Given the description of an element on the screen output the (x, y) to click on. 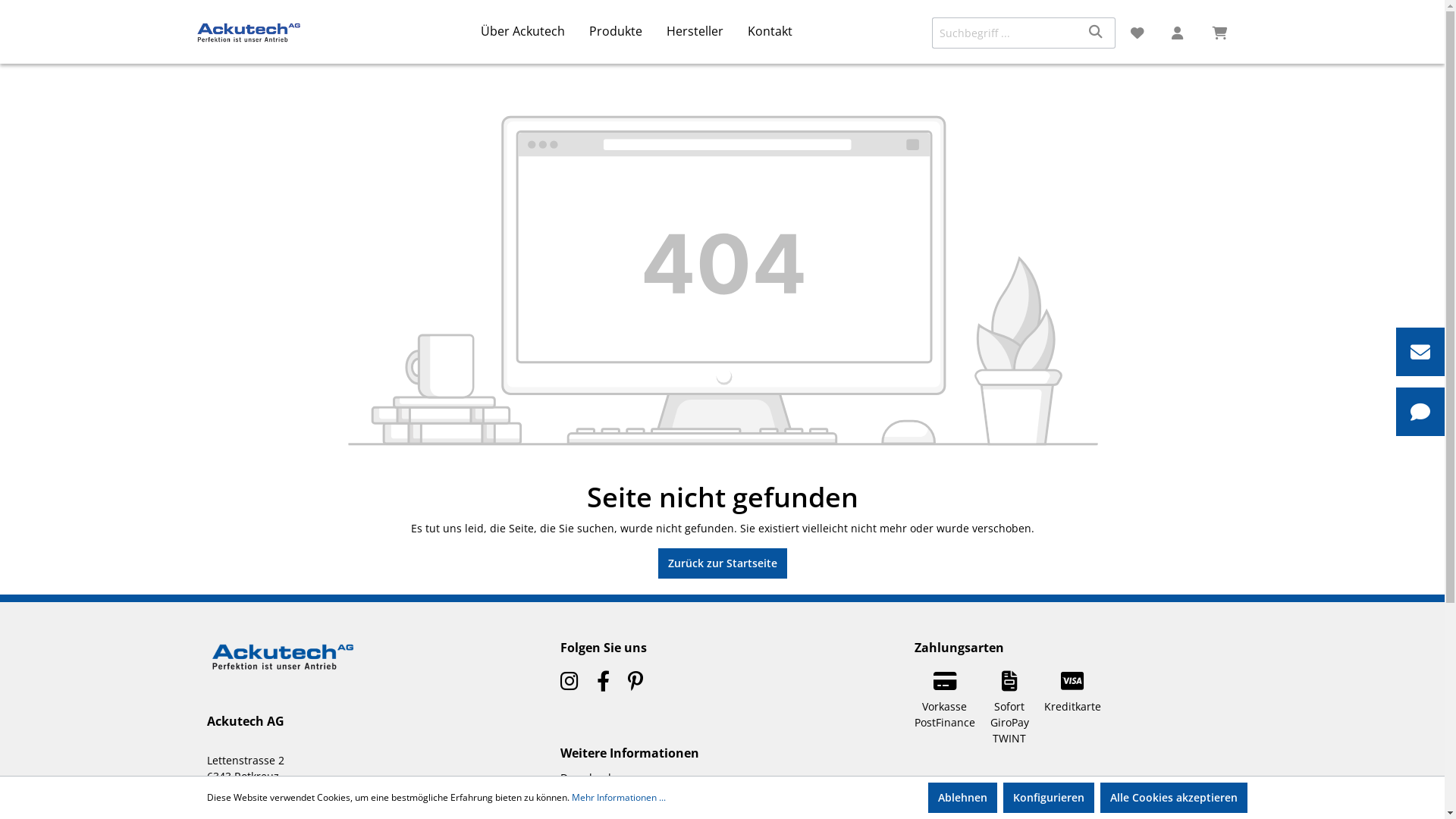
Download Element type: text (585, 777)
Ackutech bei Pinterest Element type: hover (627, 684)
Mehr Informationen ... Element type: text (618, 797)
Zur Startseite wechseln Element type: hover (285, 31)
Merkzettel Element type: hover (1137, 32)
Warenkorb Element type: hover (1219, 32)
Karriere Element type: text (581, 796)
Kontakt Element type: text (781, 32)
Ackutech Facebook Website Element type: hover (595, 684)
Produkte Element type: text (627, 32)
Ackutech AG auf Instagram Element type: hover (569, 684)
Ablehnen Element type: text (962, 797)
Hersteller Element type: text (706, 32)
Ackutech AG - Der Schreiner Profishop der Schweiz Element type: hover (281, 637)
Mein Konto Element type: hover (1178, 32)
Alle Cookies akzeptieren Element type: text (1172, 797)
Konfigurieren Element type: text (1047, 797)
